Given the description of an element on the screen output the (x, y) to click on. 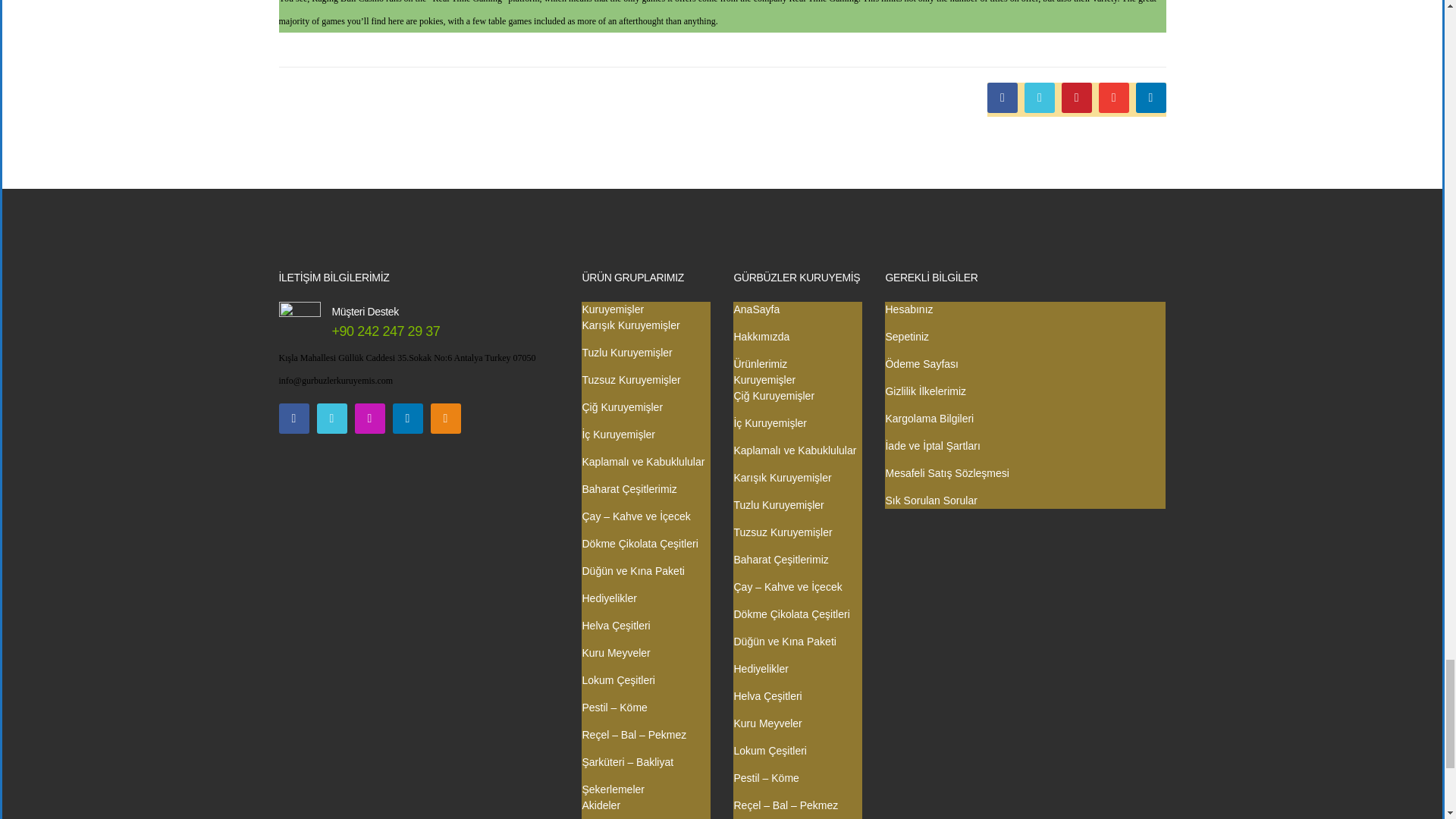
Twitter (1039, 97)
Pinterest (1076, 97)
Linkedin (408, 418)
Rss (445, 418)
Facebook (293, 418)
Facebook (1002, 97)
Twitter (332, 418)
LinkedIn (1150, 97)
Instagram (370, 418)
